Given the description of an element on the screen output the (x, y) to click on. 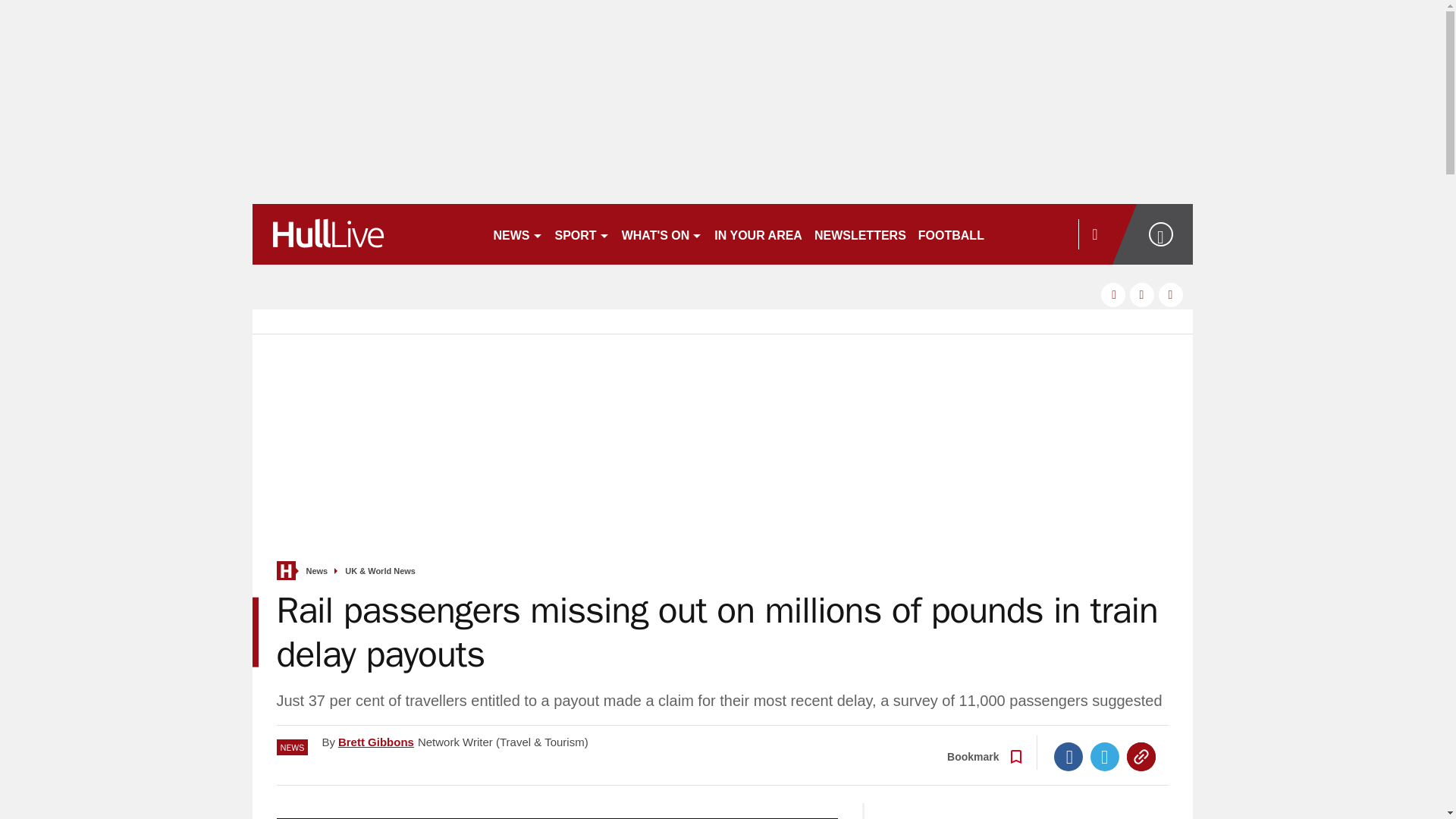
Facebook (1068, 756)
IN YOUR AREA (757, 233)
hulldailymail (365, 233)
instagram (1170, 294)
NEWS (517, 233)
NEWSLETTERS (860, 233)
RUGBY LEAGUE (1045, 233)
Twitter (1104, 756)
SPORT (581, 233)
WHAT'S ON (662, 233)
